Given the description of an element on the screen output the (x, y) to click on. 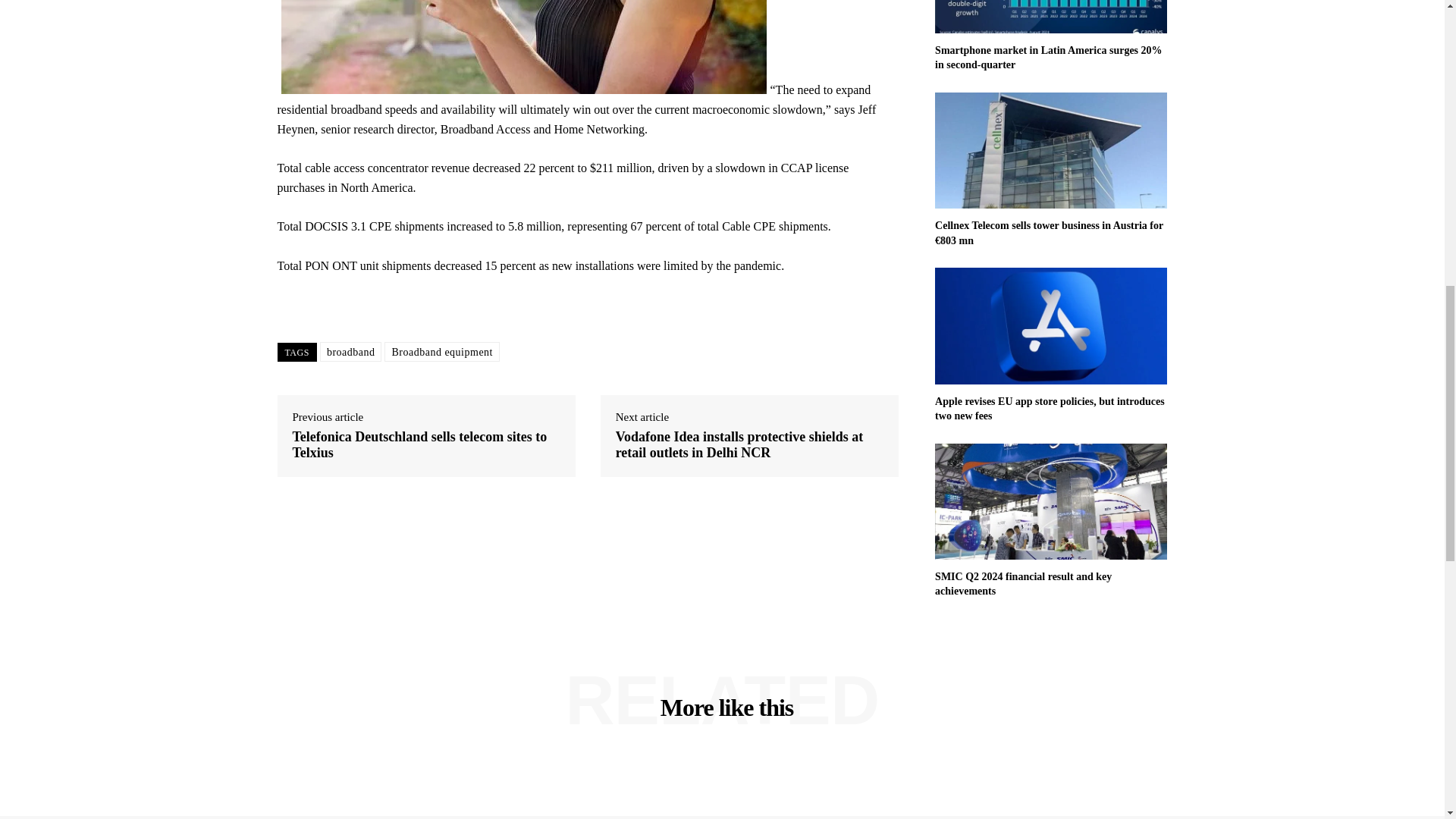
Telefonica Deutschland sells telecom sites to Telxius (426, 445)
SMIC Q2 2024 financial result and key achievements (1023, 583)
SMIC Q2 2024 financial result and key achievements (1050, 501)
broadband (350, 351)
SMIC Q2 2024 financial result and key achievements (1023, 583)
Broadband equipment (441, 351)
